Given the description of an element on the screen output the (x, y) to click on. 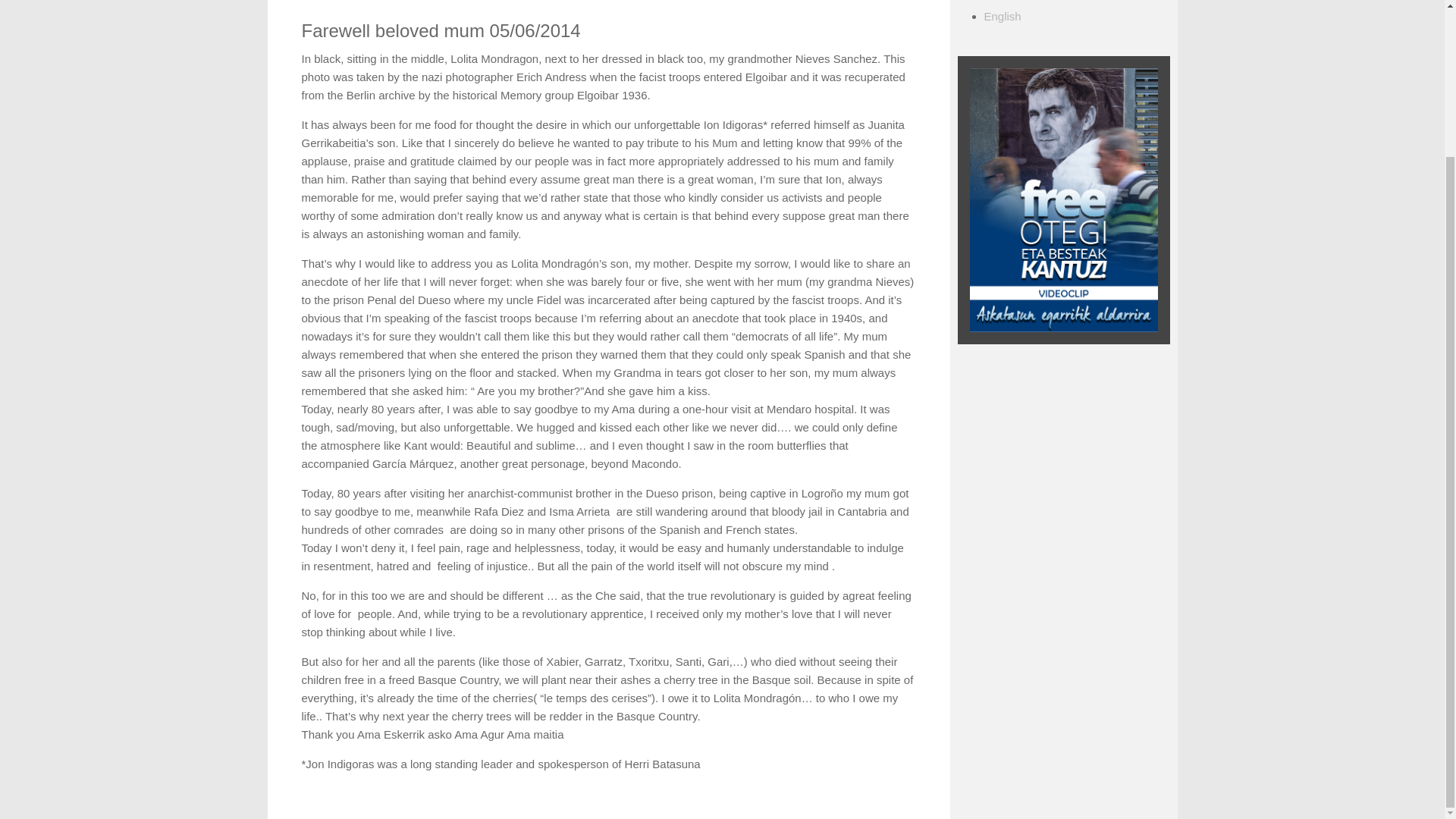
English (1003, 15)
